Given the description of an element on the screen output the (x, y) to click on. 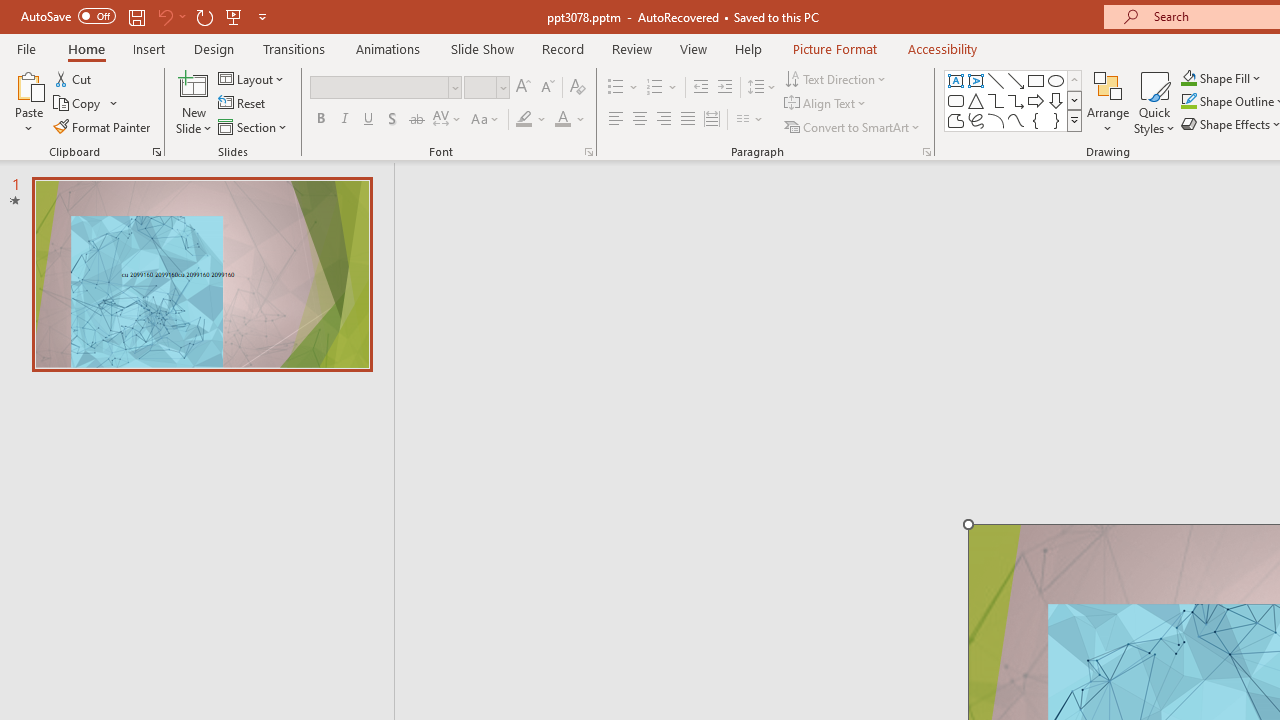
Picture Format (834, 48)
